Given the description of an element on the screen output the (x, y) to click on. 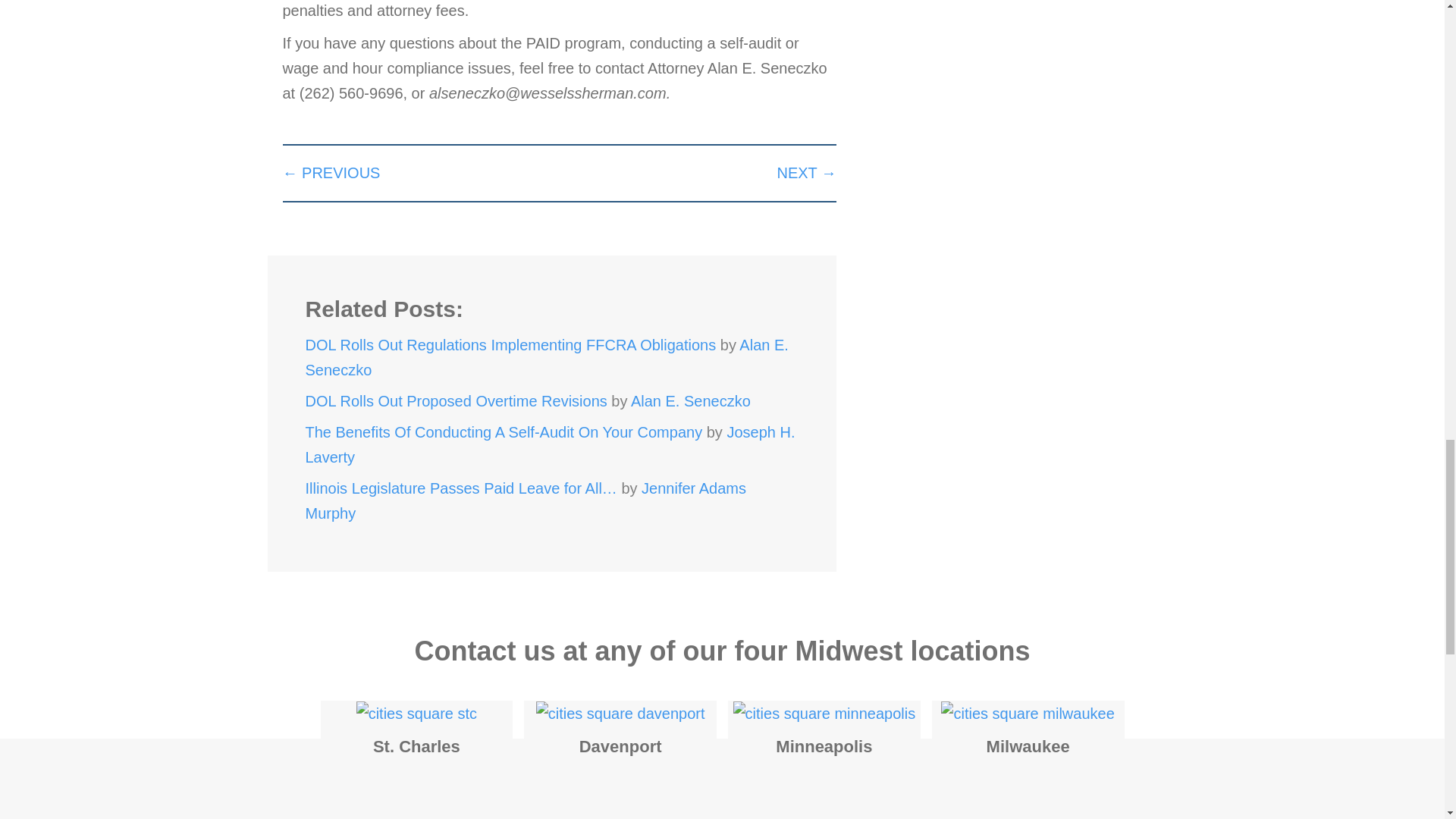
Minneapolis (824, 712)
Milwaukee (1026, 712)
Davenport (620, 746)
Davenport (619, 712)
Alan E. Seneczko (690, 401)
Jennifer Adams Murphy (524, 500)
DOL Rolls Out Proposed Overtime Revisions (455, 401)
Joseph H. Laverty (549, 445)
Milwaukee 4 (1026, 713)
Davenport (620, 746)
